Given the description of an element on the screen output the (x, y) to click on. 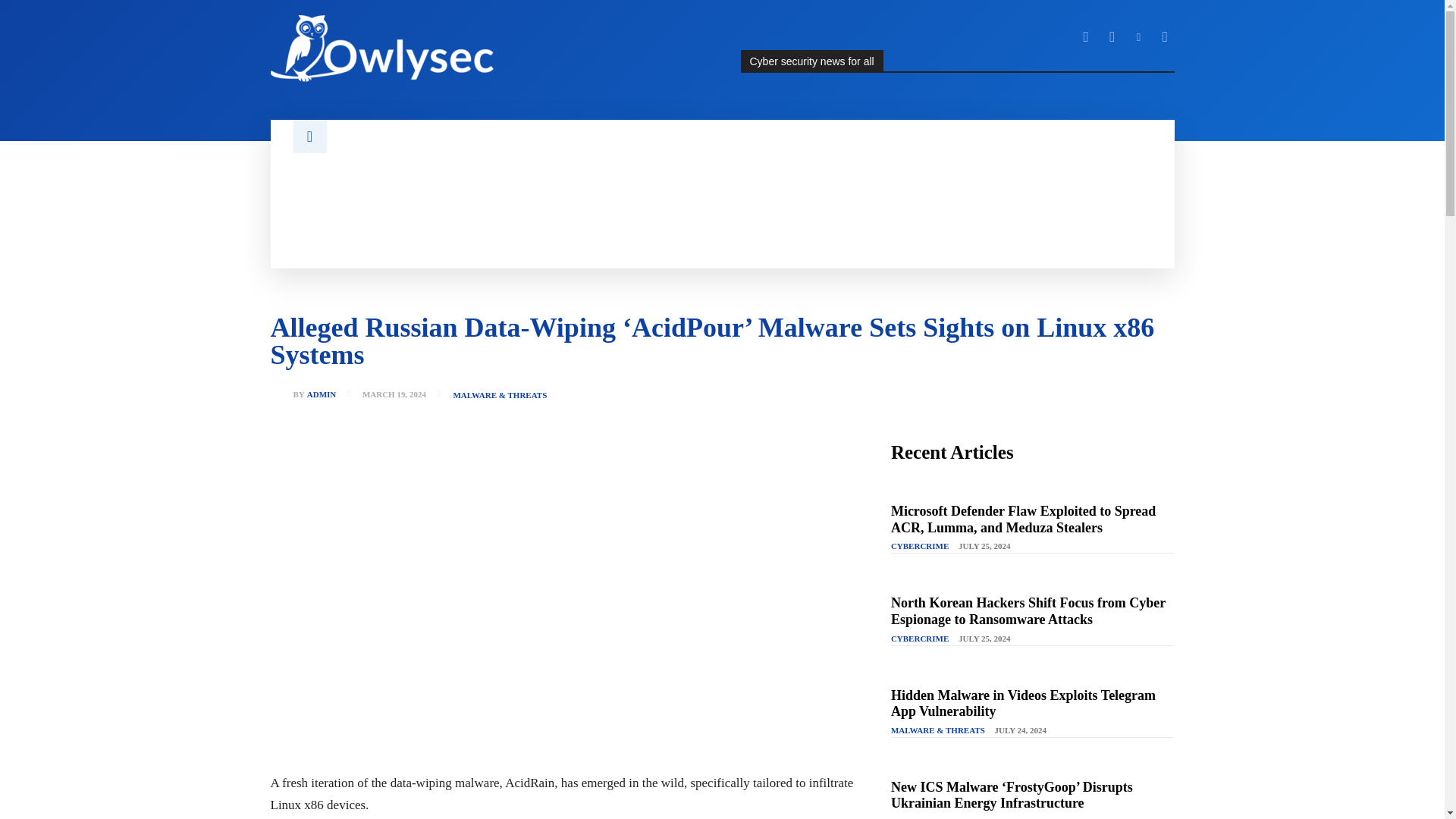
Cyber Security News (486, 48)
Facebook (1086, 36)
Linkedin (1138, 36)
Cyber Security News (383, 48)
Twitter (1165, 36)
Instagram (1111, 36)
